Given the description of an element on the screen output the (x, y) to click on. 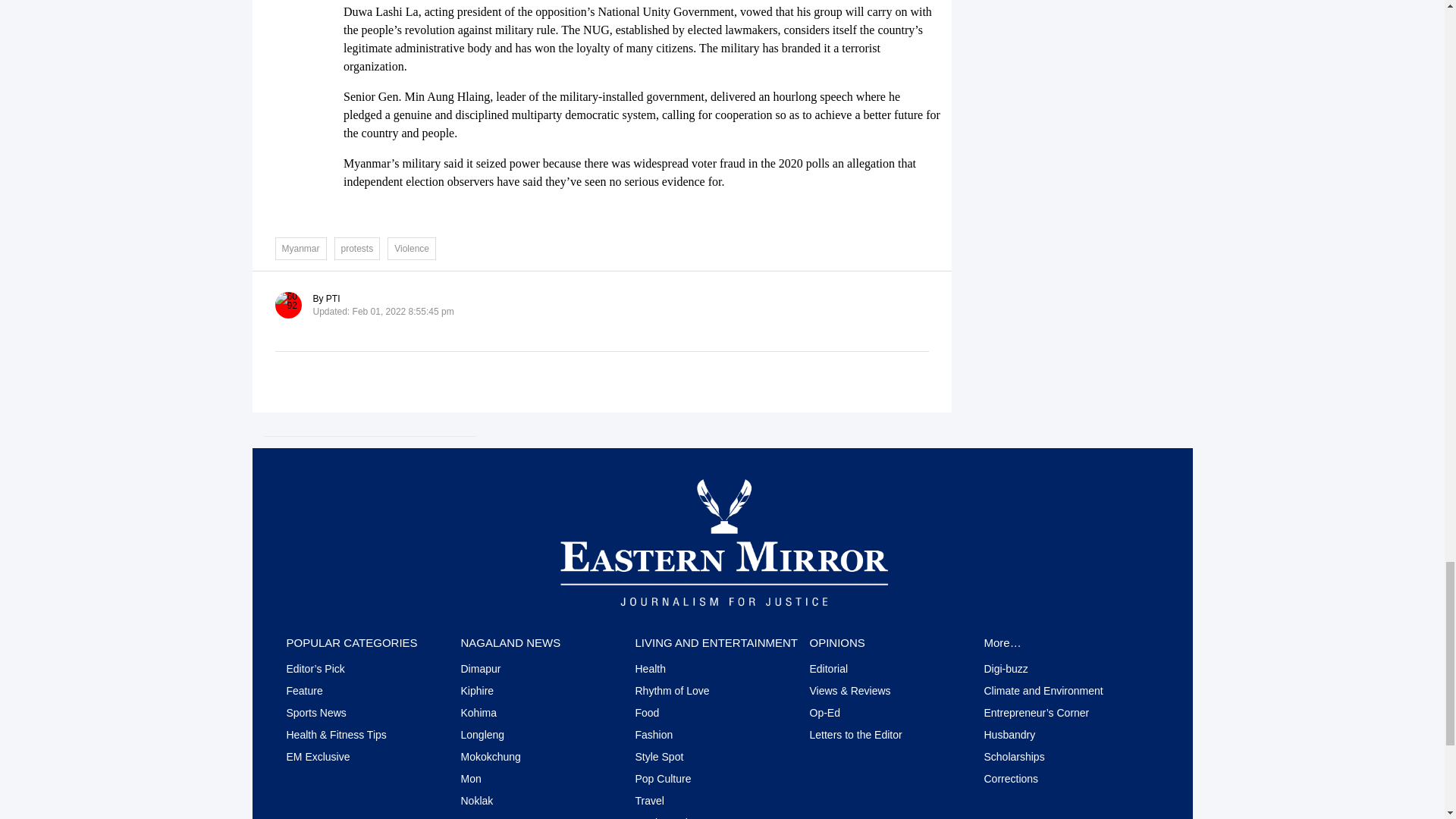
Eastern Mirror (721, 541)
